Given the description of an element on the screen output the (x, y) to click on. 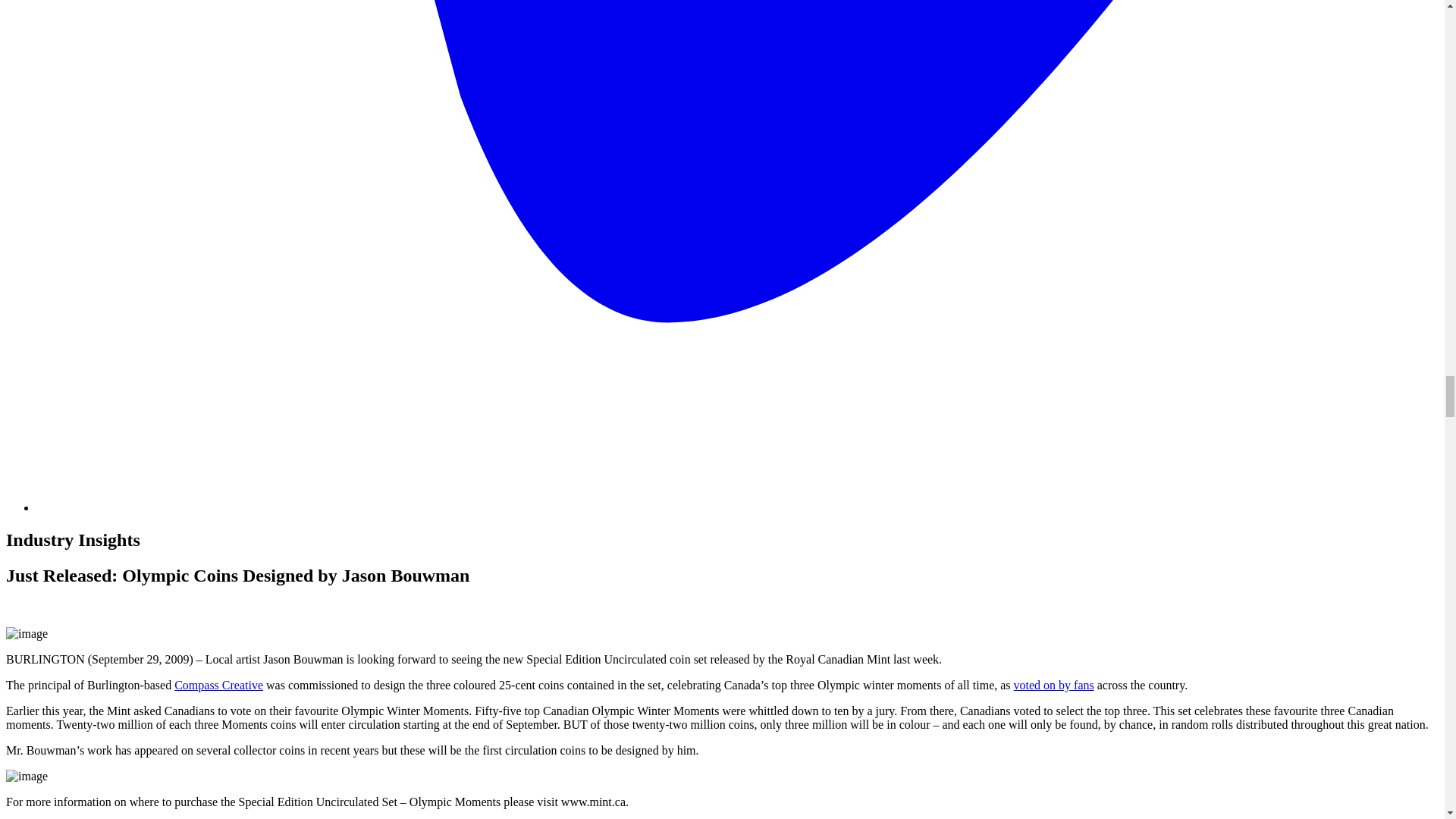
Compass Creative (218, 684)
voted on by fans (1053, 684)
